Given the description of an element on the screen output the (x, y) to click on. 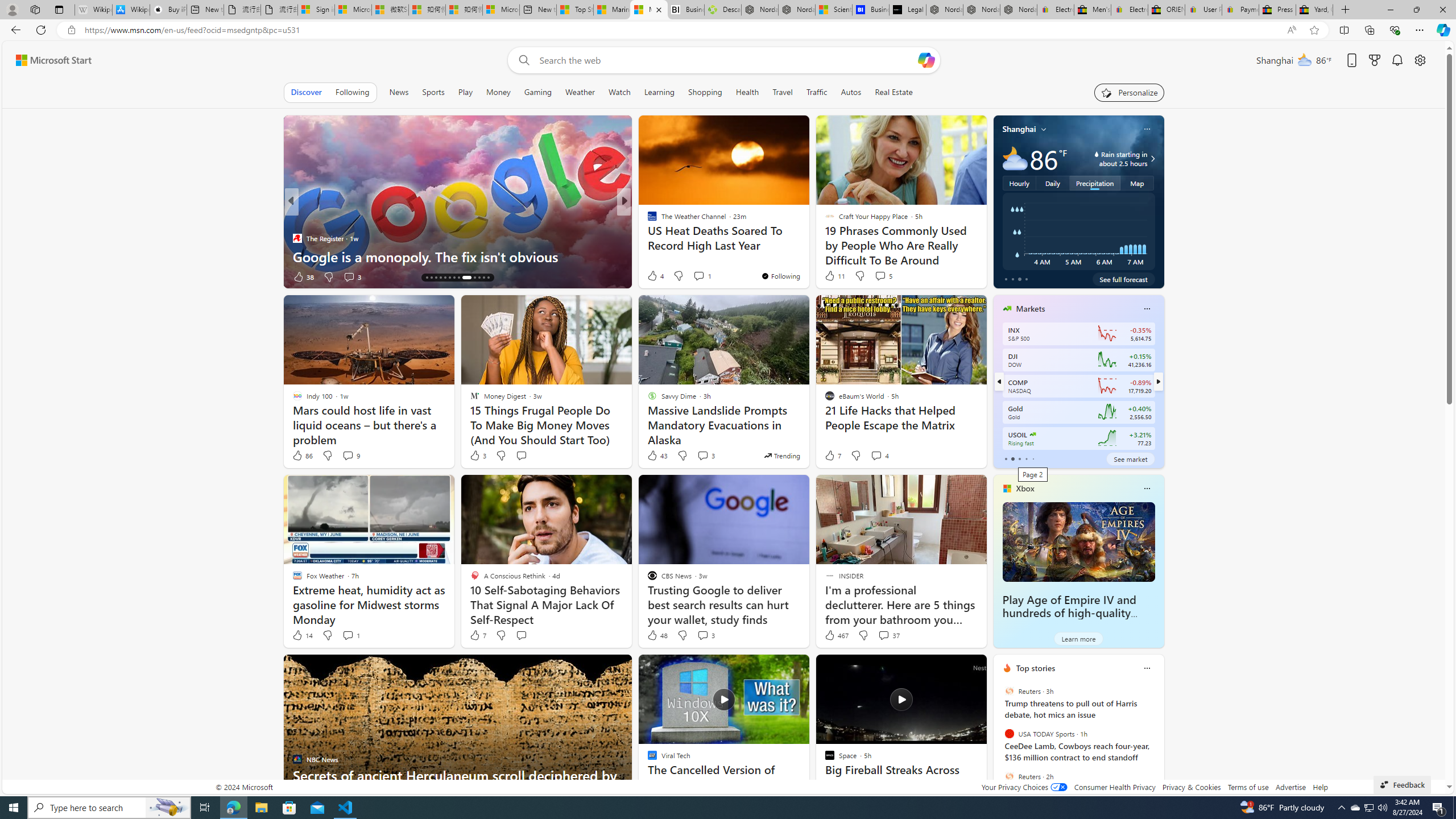
Xbox (1025, 488)
AutomationID: tab-18 (444, 277)
AutomationID: tab-26 (488, 277)
View comments 2 Comment (698, 276)
14 Like (301, 634)
